Given the description of an element on the screen output the (x, y) to click on. 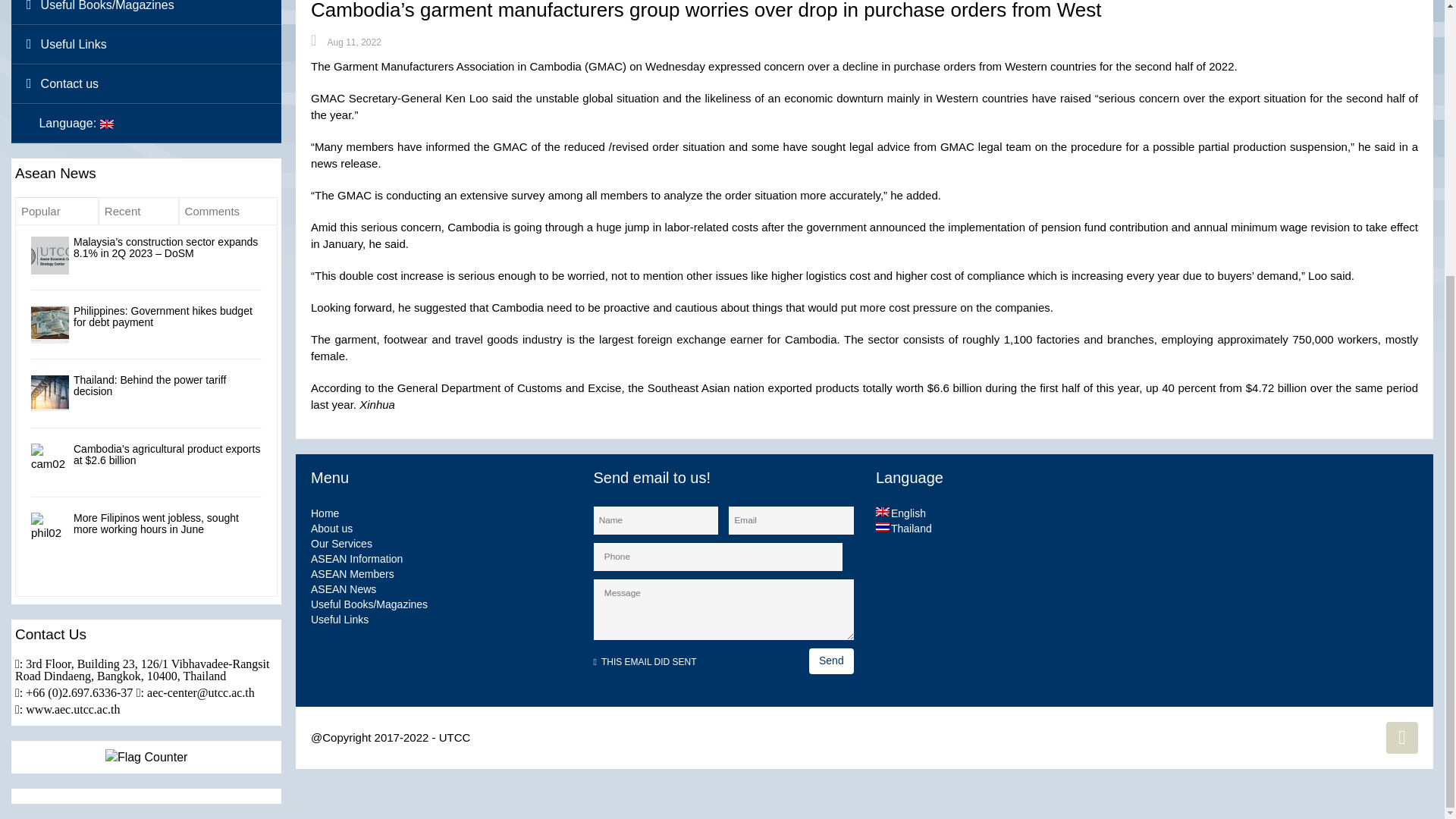
Send (831, 661)
